Given the description of an element on the screen output the (x, y) to click on. 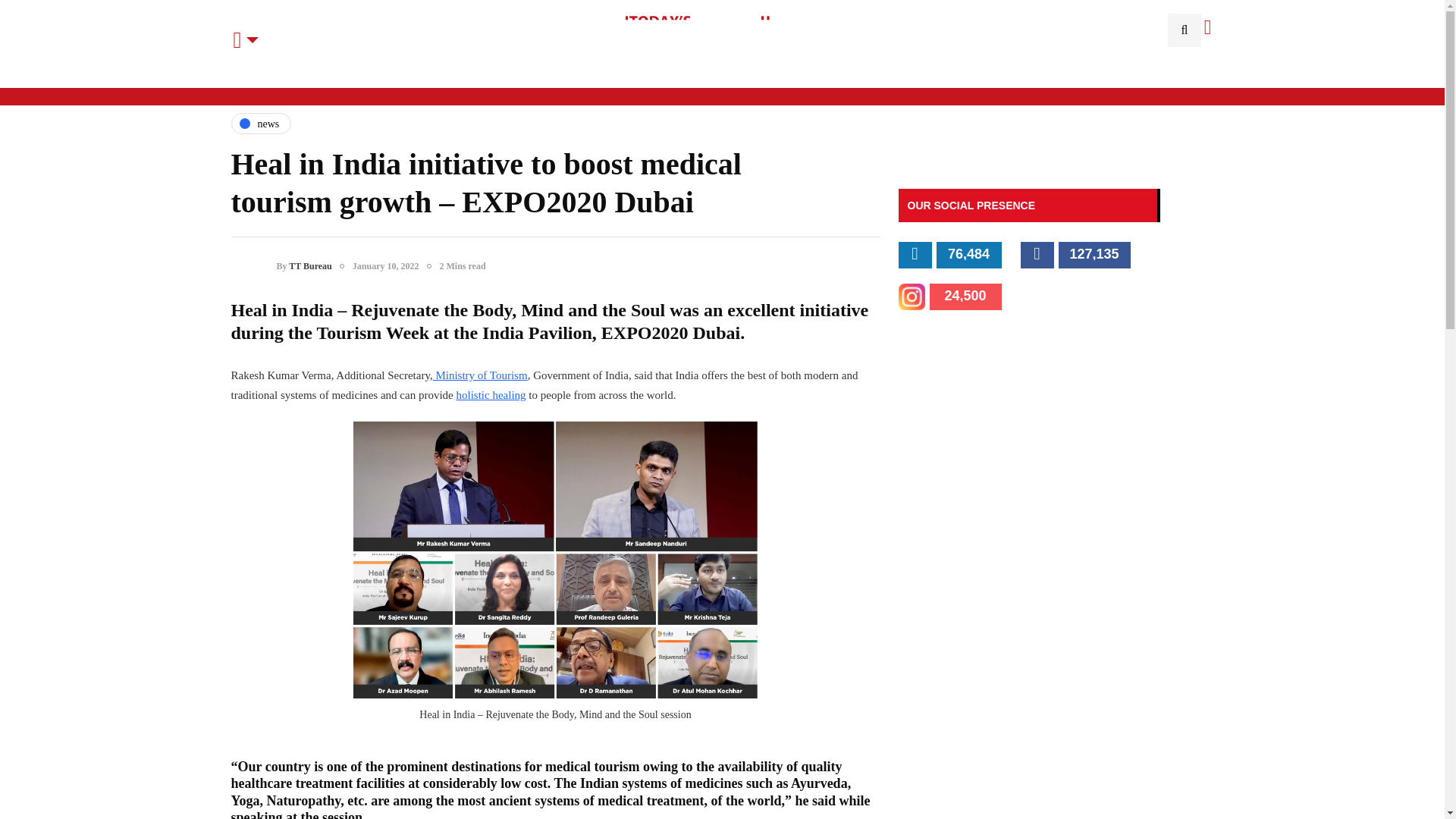
Posts by TT Bureau (309, 266)
news (260, 123)
